Given the description of an element on the screen output the (x, y) to click on. 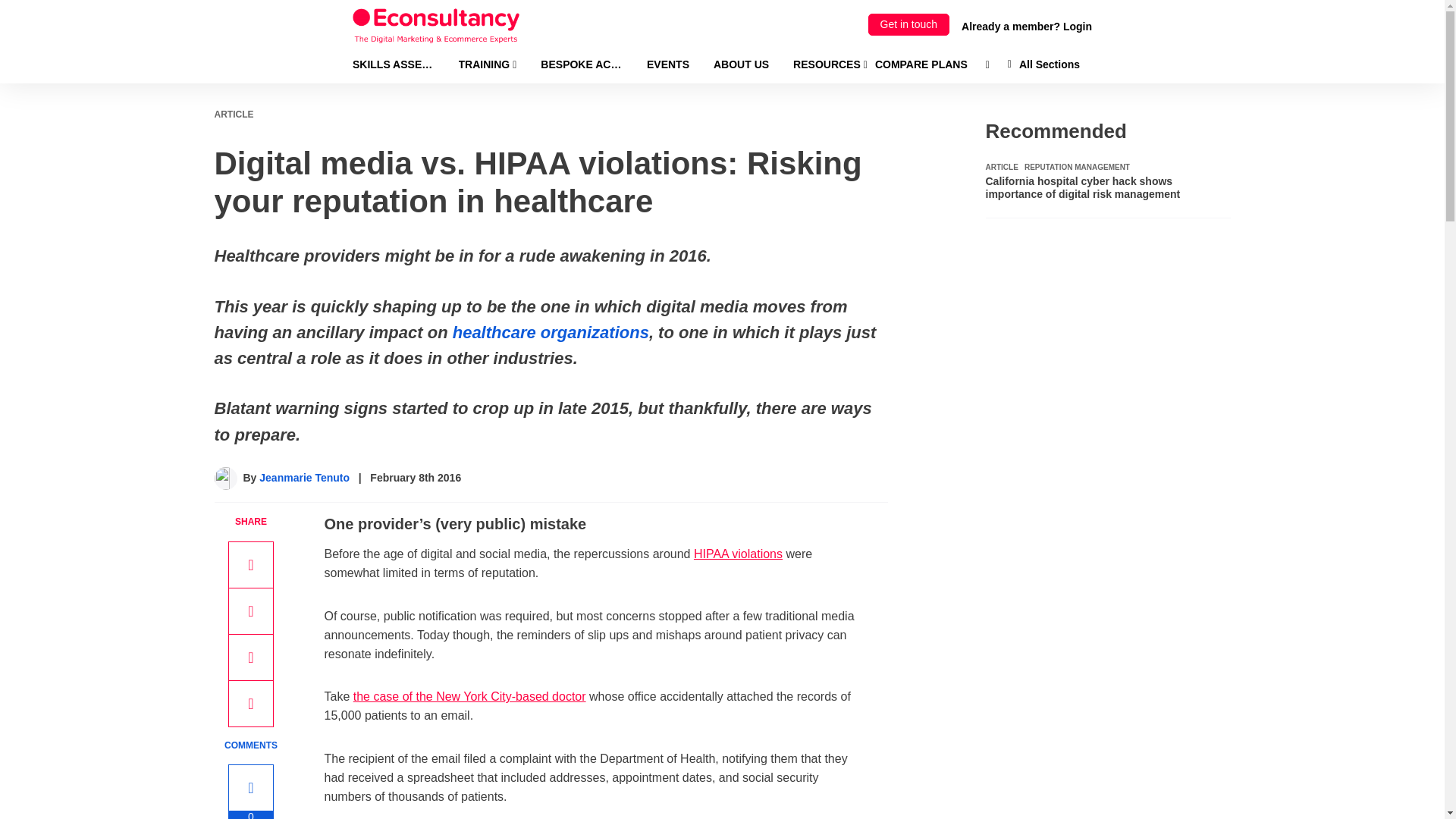
ABOUT US (740, 64)
Posts by Jeanmarie Tenuto (304, 477)
TRAINING (487, 64)
BESPOKE ACADEMIES (581, 64)
Already a member? Login (1026, 26)
Get in touch (908, 24)
RESOURCES (830, 64)
EVENTS (667, 64)
SKILLS ASSESSMENT (392, 64)
COMPARE PLANS (921, 64)
